Given the description of an element on the screen output the (x, y) to click on. 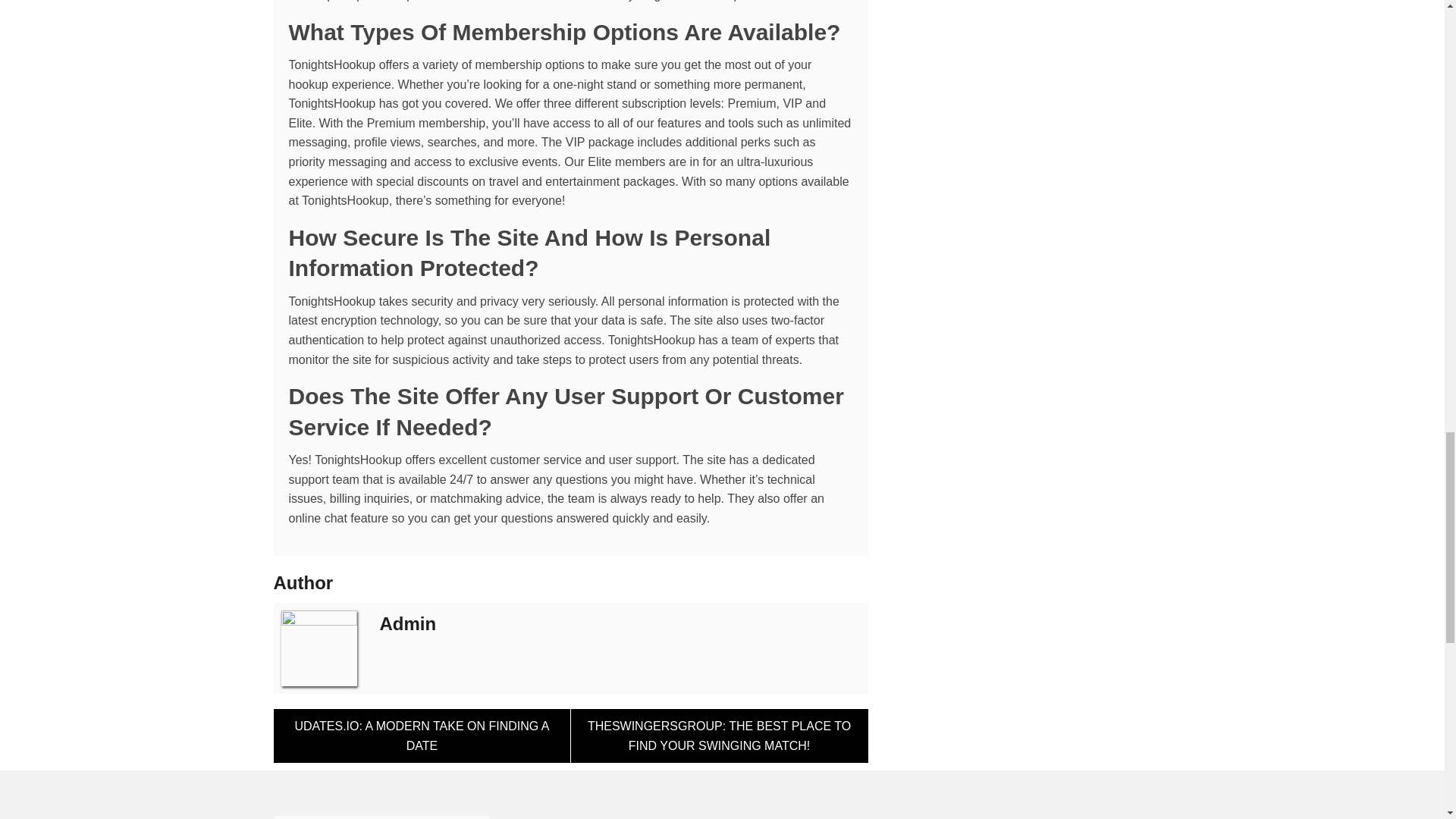
UDATES.IO: A MODERN TAKE ON FINDING A DATE (421, 735)
